Given the description of an element on the screen output the (x, y) to click on. 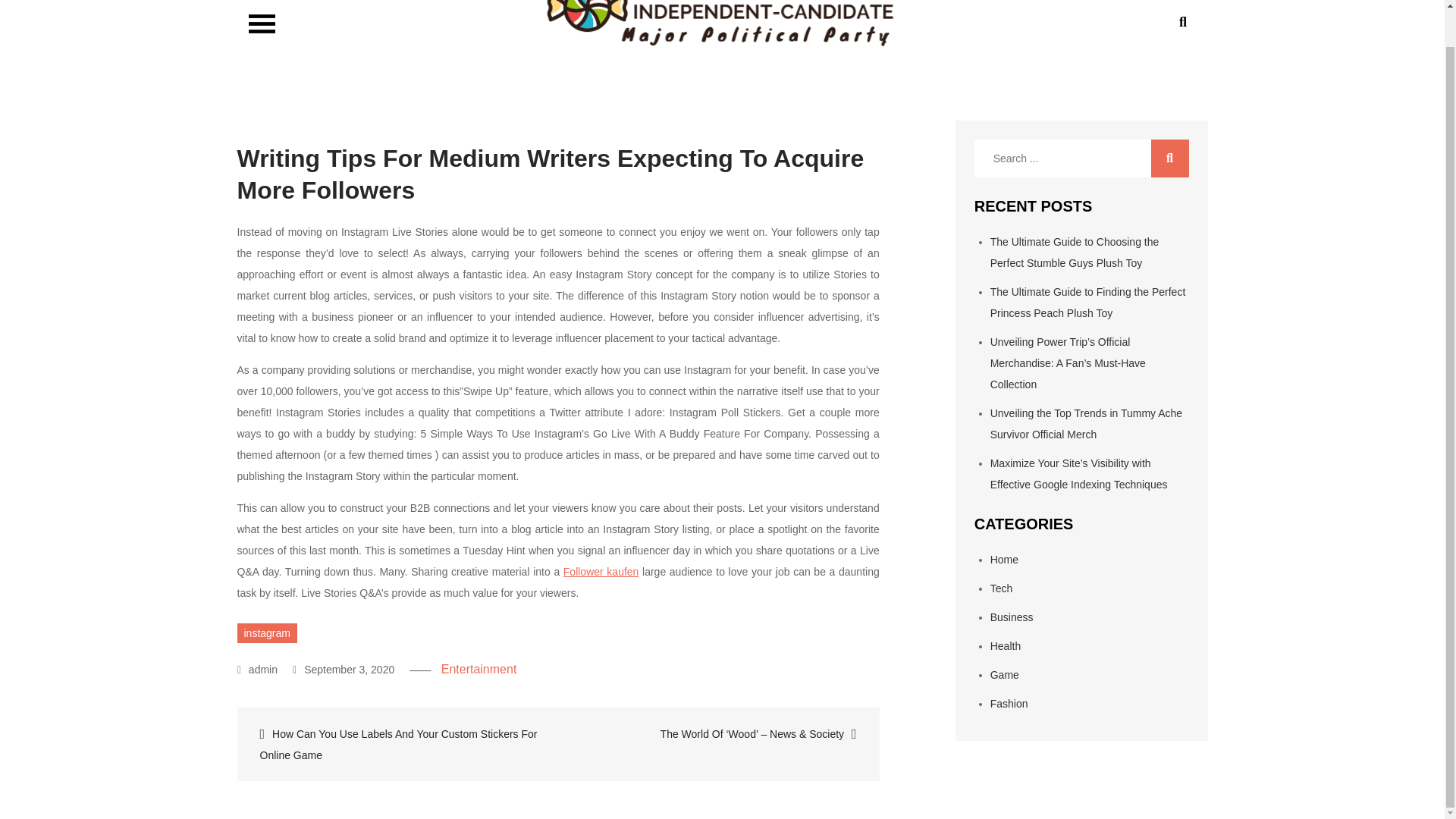
Independent-Candidate (398, 71)
Entertainment (478, 668)
Game (1004, 674)
Business (1011, 616)
instagram (266, 632)
Fashion (1008, 703)
Follower kaufen (601, 571)
September 3, 2020 (343, 669)
Search for: (1081, 158)
Home (1003, 559)
Health (1005, 645)
admin (257, 669)
